Given the description of an element on the screen output the (x, y) to click on. 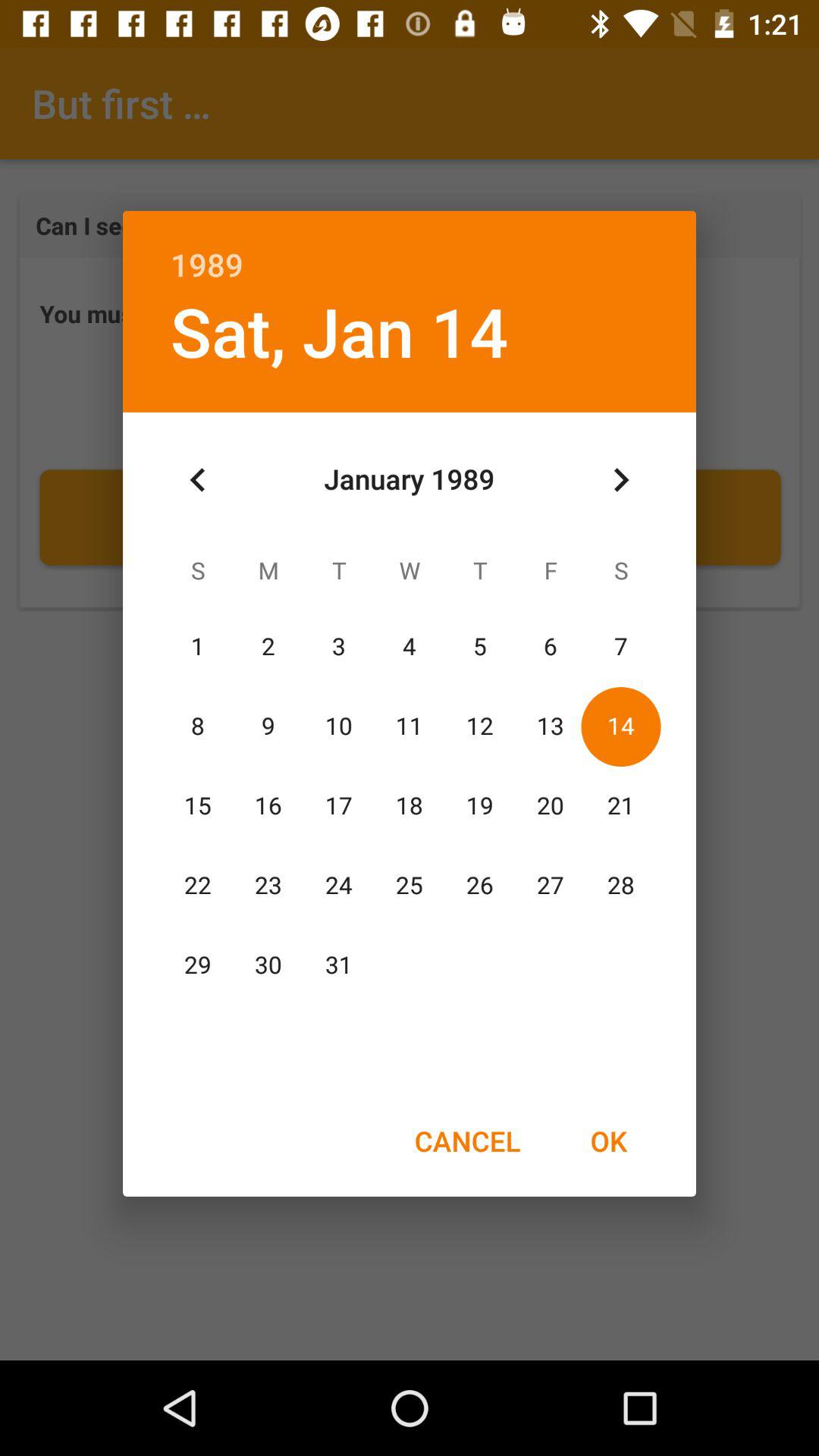
tap item at the top left corner (197, 479)
